Given the description of an element on the screen output the (x, y) to click on. 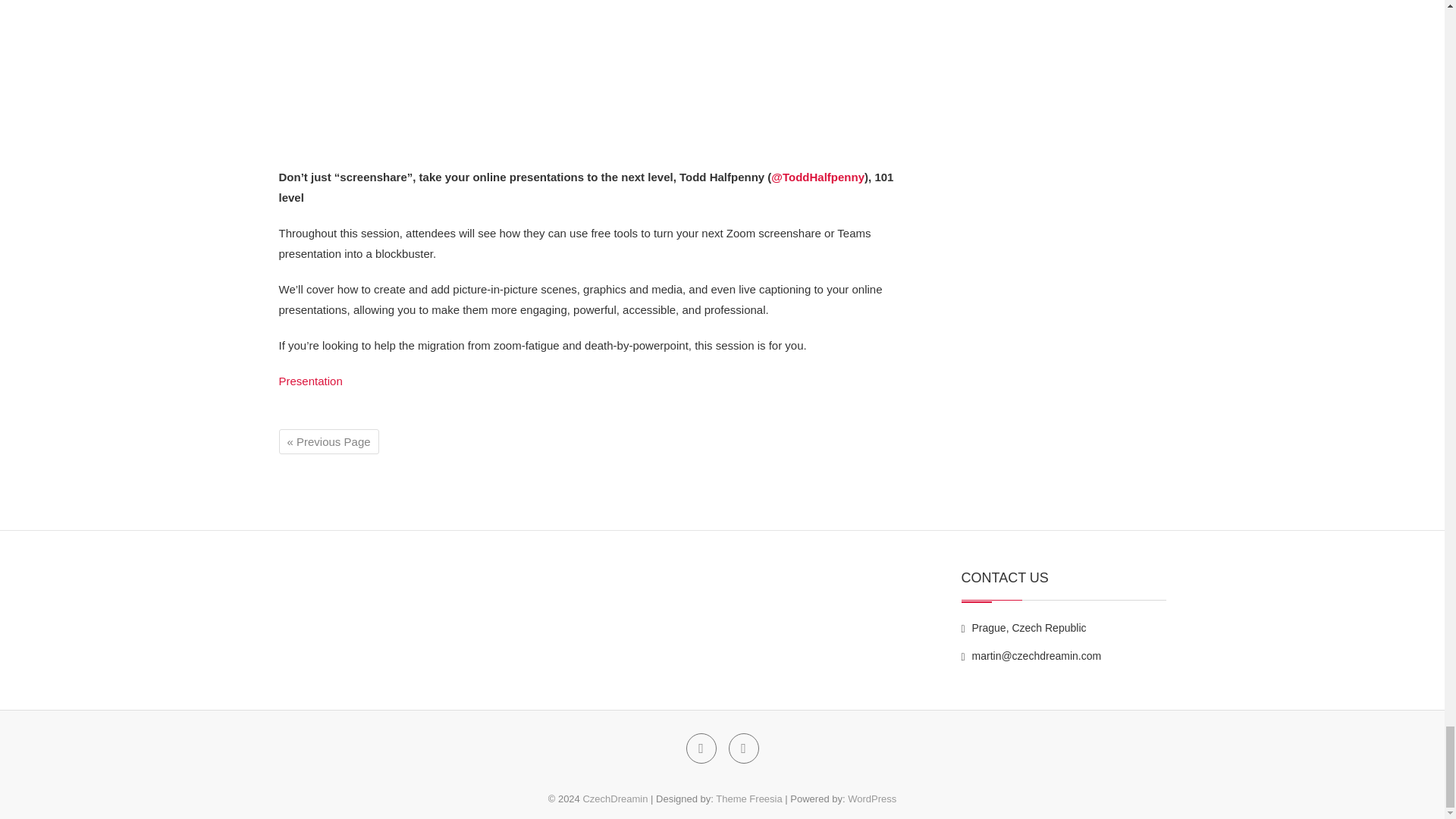
Presentation (310, 380)
Prague, Czech Republic (1023, 627)
